Given the description of an element on the screen output the (x, y) to click on. 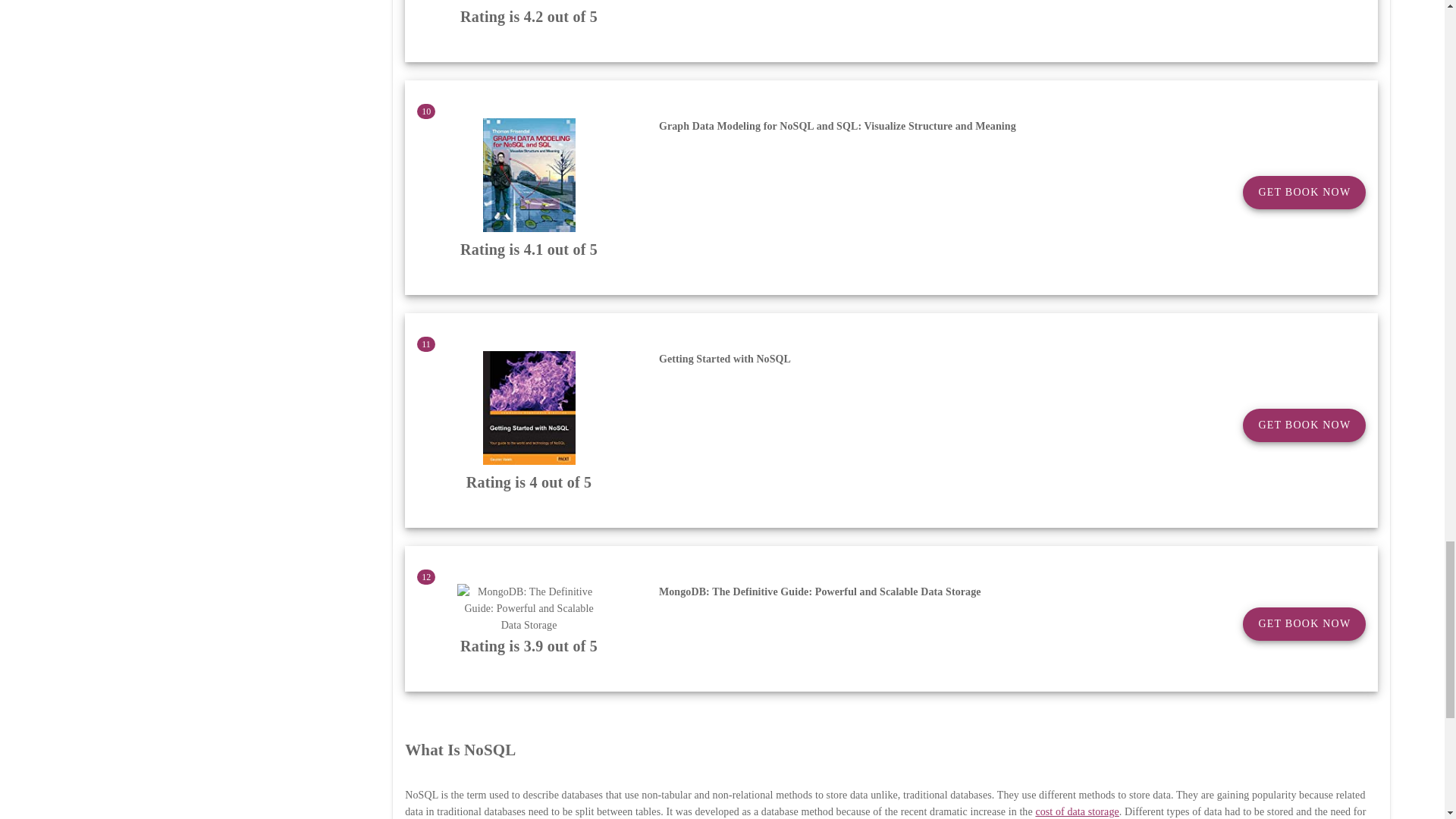
GET BOOK NOW (1304, 192)
GET BOOK NOW (1304, 425)
